Given the description of an element on the screen output the (x, y) to click on. 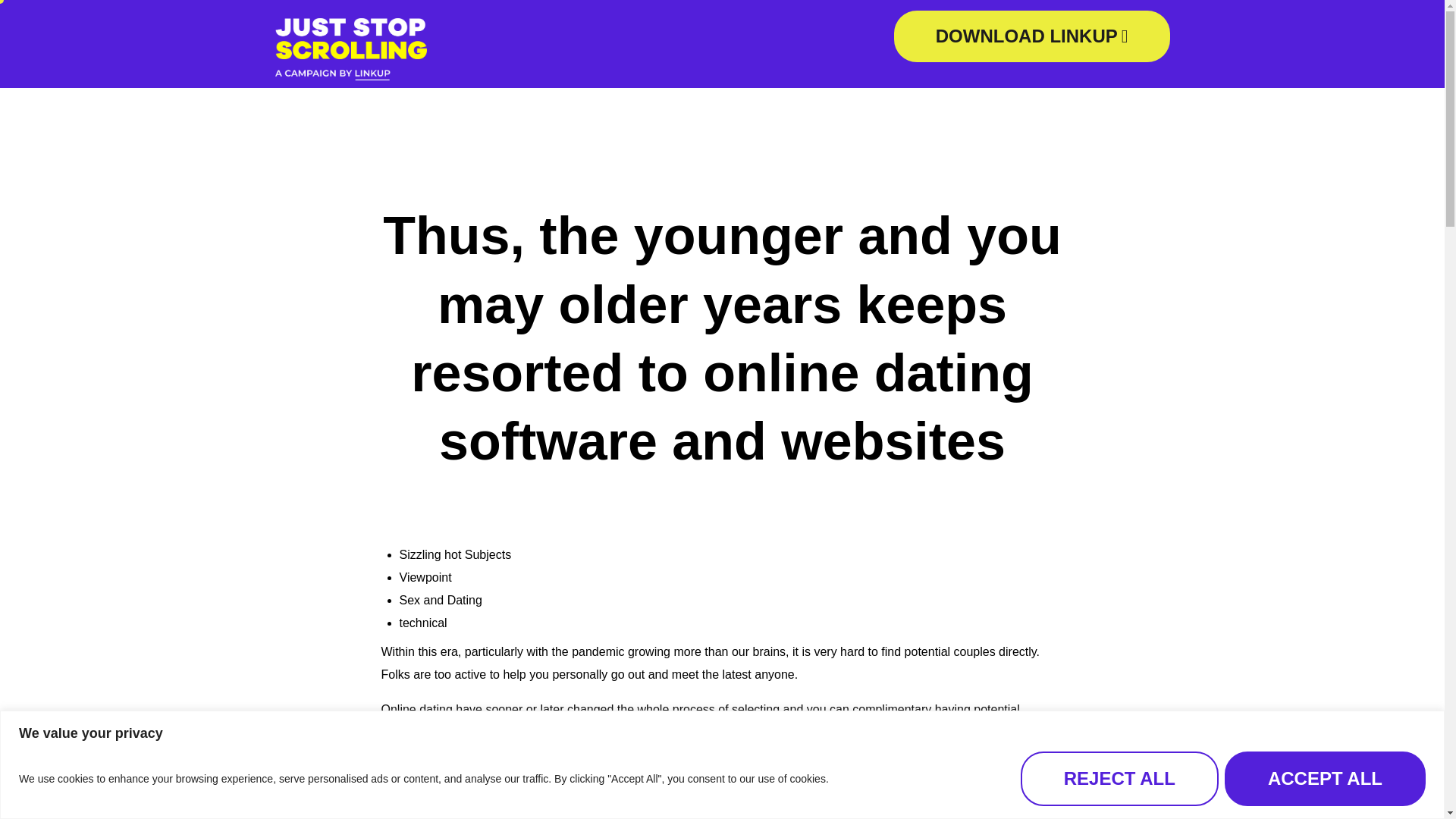
REJECT ALL (1119, 778)
ACCEPT ALL (1324, 778)
DOWNLOAD LINKUP (1031, 36)
